Given the description of an element on the screen output the (x, y) to click on. 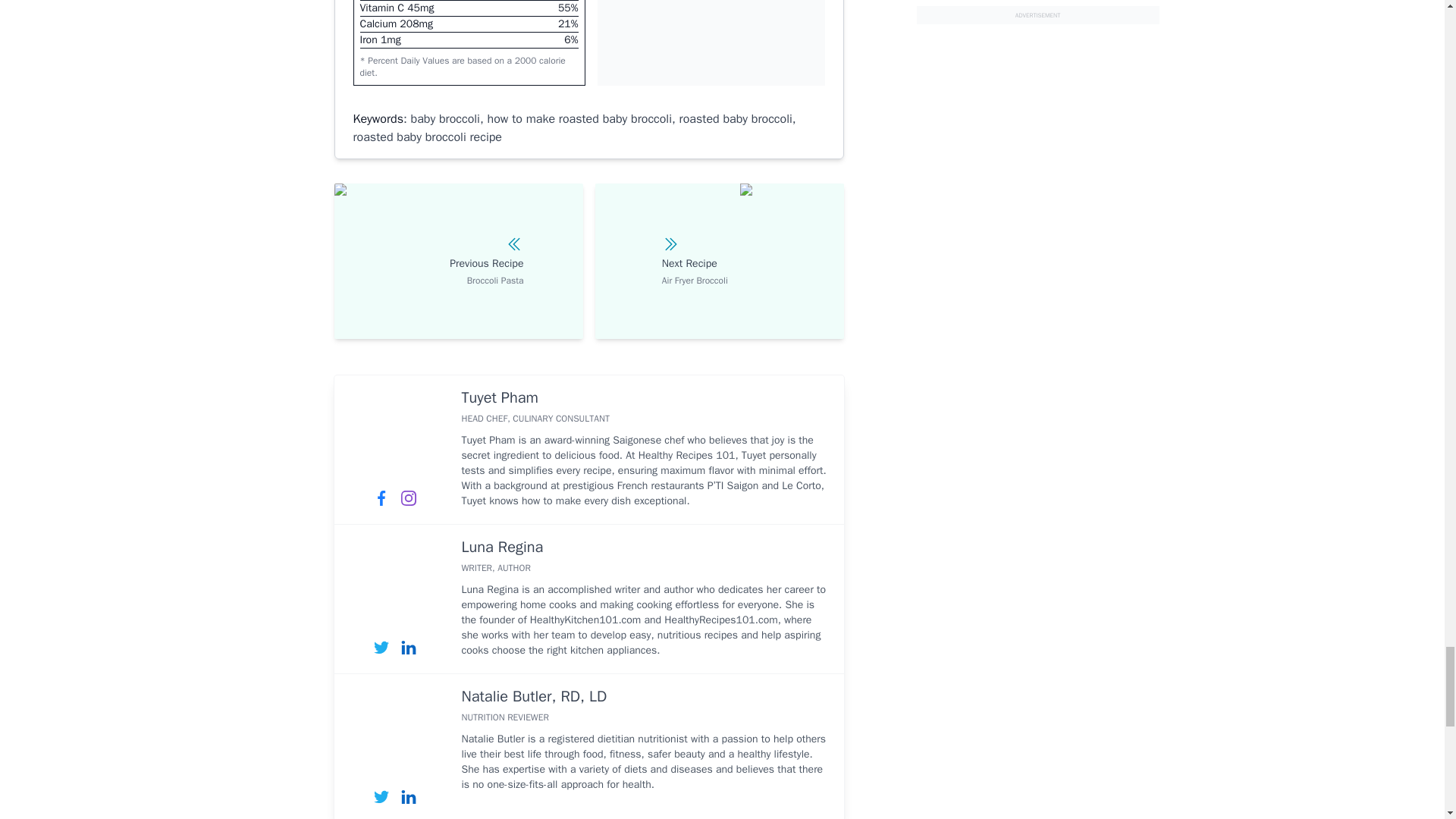
linkedIn Natalie Butler, RD, LD (408, 795)
twitter Luna Regina (380, 646)
instagram Tuyet Pham (408, 497)
linkedIn Luna Regina (408, 646)
twitter Natalie Butler, RD, LD (380, 795)
facebook Tuyet Pham (380, 497)
